Given the description of an element on the screen output the (x, y) to click on. 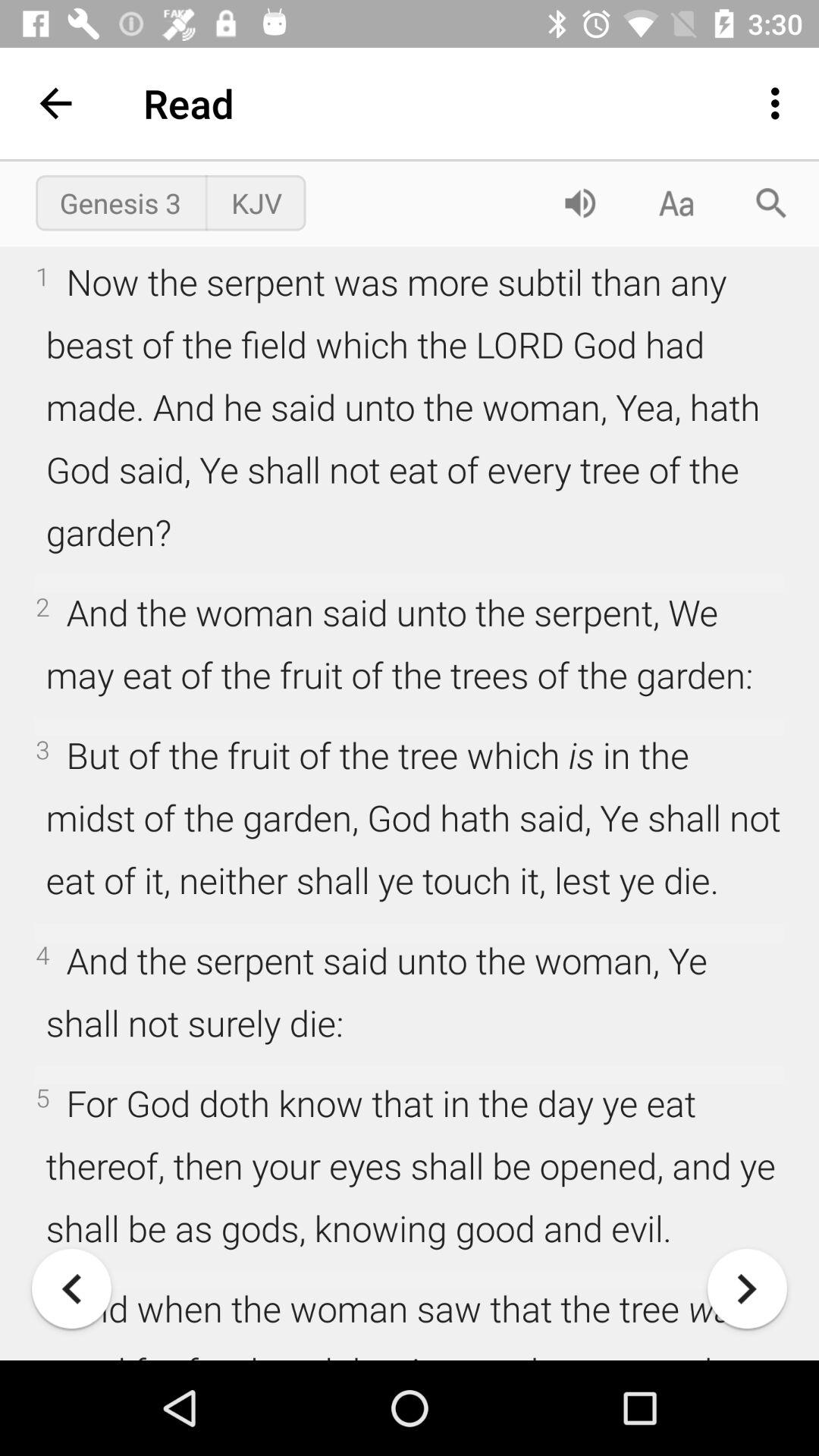
turn off the icon above 1 now the (120, 202)
